Given the description of an element on the screen output the (x, y) to click on. 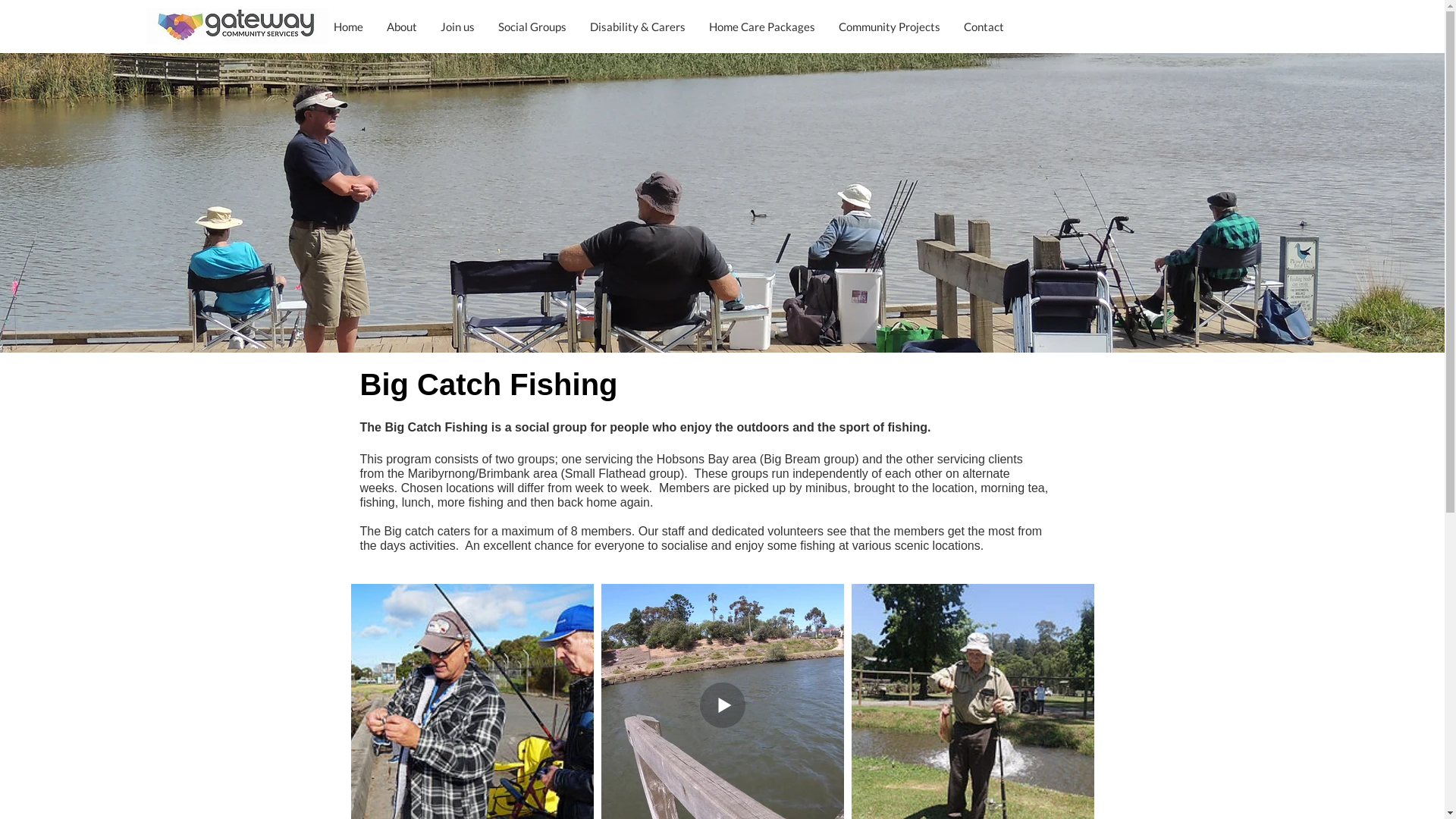
Home Element type: text (347, 26)
About Element type: text (401, 26)
Community Projects Element type: text (888, 26)
Disability & Carers Element type: text (636, 26)
